Given the description of an element on the screen output the (x, y) to click on. 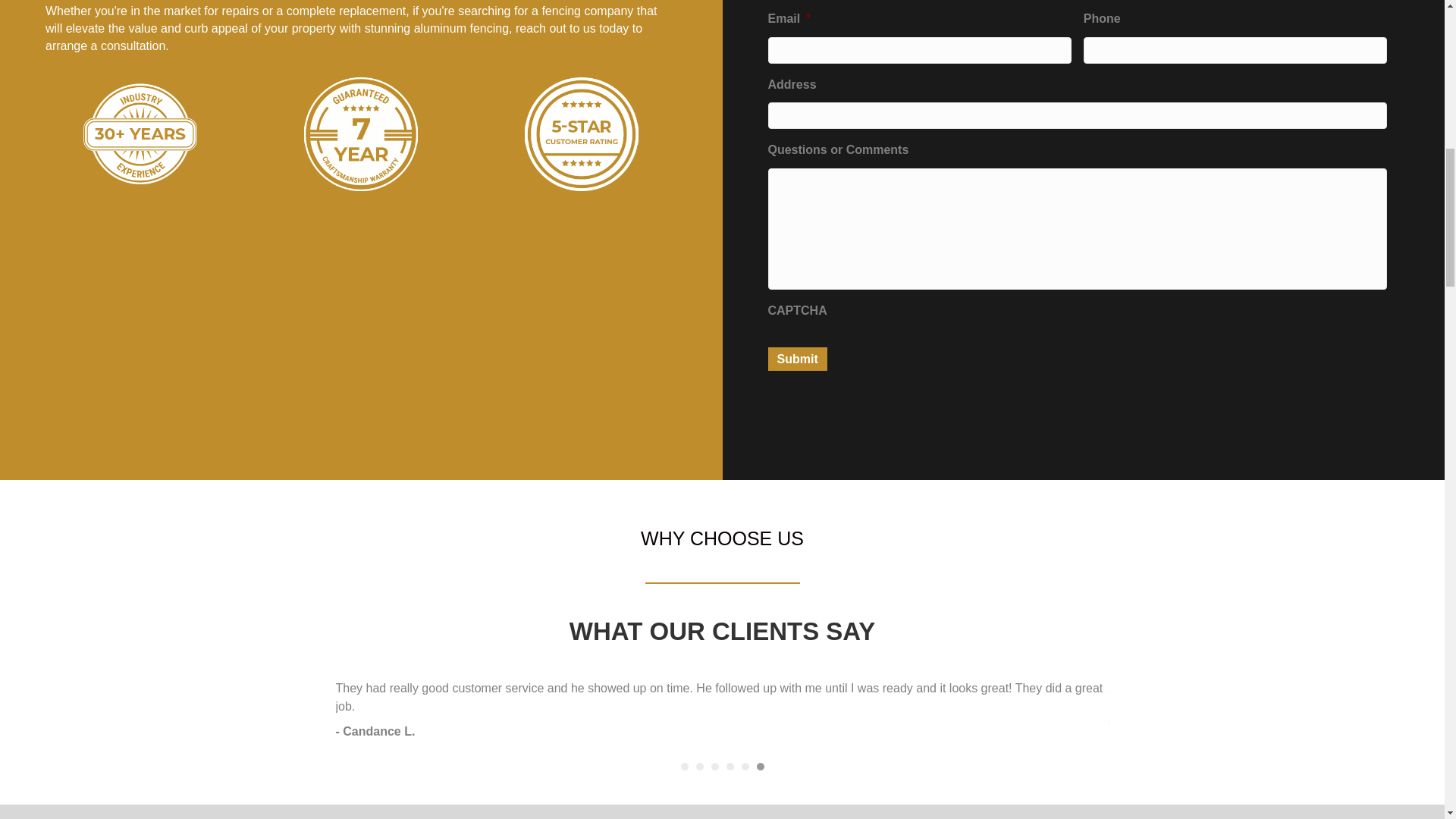
Submit (797, 359)
Trust-Badge-3 (139, 133)
3 (715, 766)
1 (684, 766)
5 (745, 766)
6 (760, 766)
Submit (797, 359)
2 (699, 766)
4 (729, 766)
Trust-Badge-2 (581, 133)
YouTube video player (257, 340)
Trust-Badge-1 (360, 133)
